Given the description of an element on the screen output the (x, y) to click on. 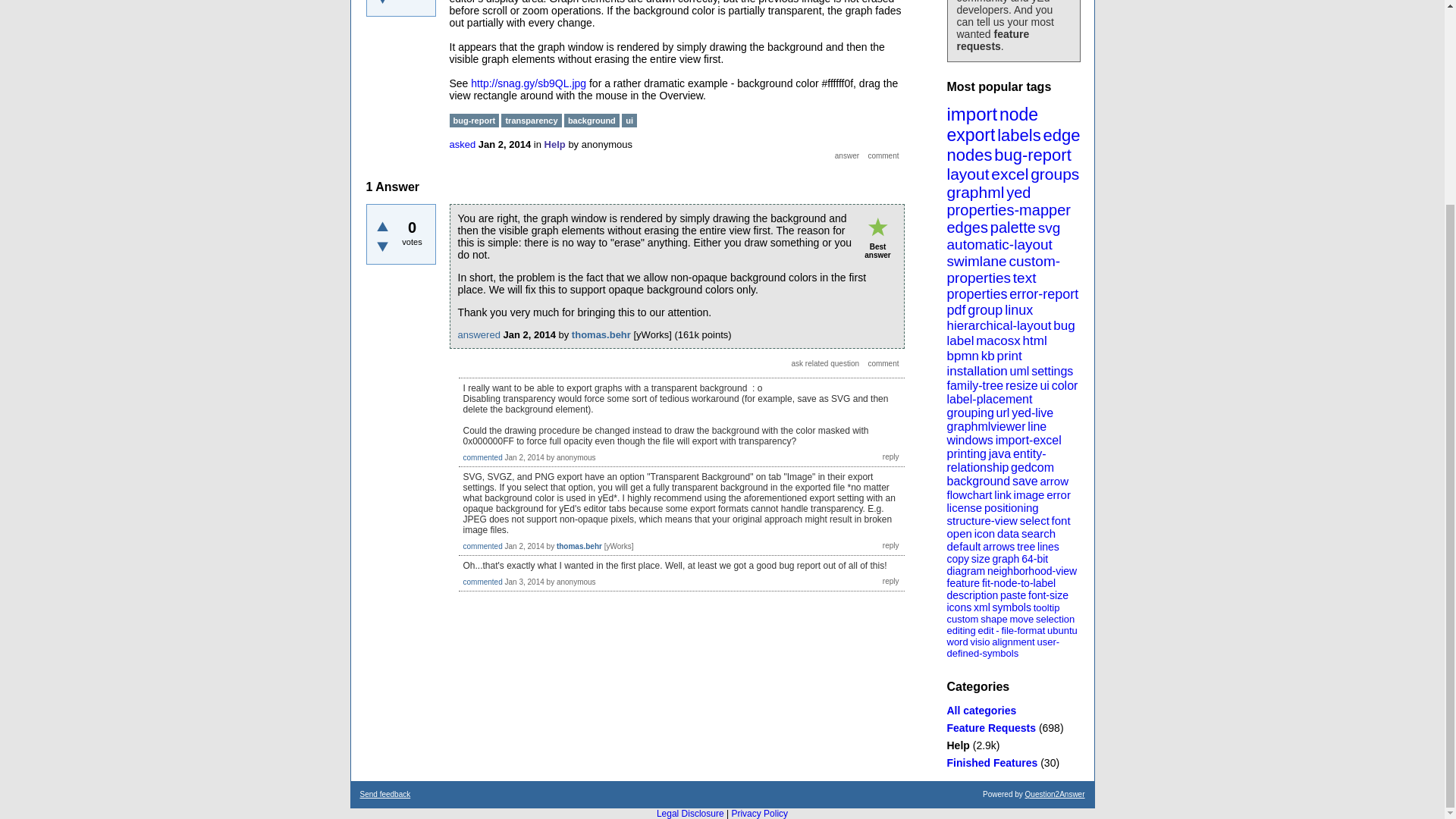
labels (1019, 135)
edge (1061, 135)
bug-report (1032, 154)
error-report (1043, 294)
Request a new feature for yEd here. (990, 727)
Click to vote down (381, 246)
macosx (997, 340)
pdf (955, 309)
reply (890, 581)
linux (1018, 309)
Click to vote up (381, 225)
edges (967, 227)
custom-properties (1002, 269)
reply (890, 456)
bug (1063, 325)
